Given the description of an element on the screen output the (x, y) to click on. 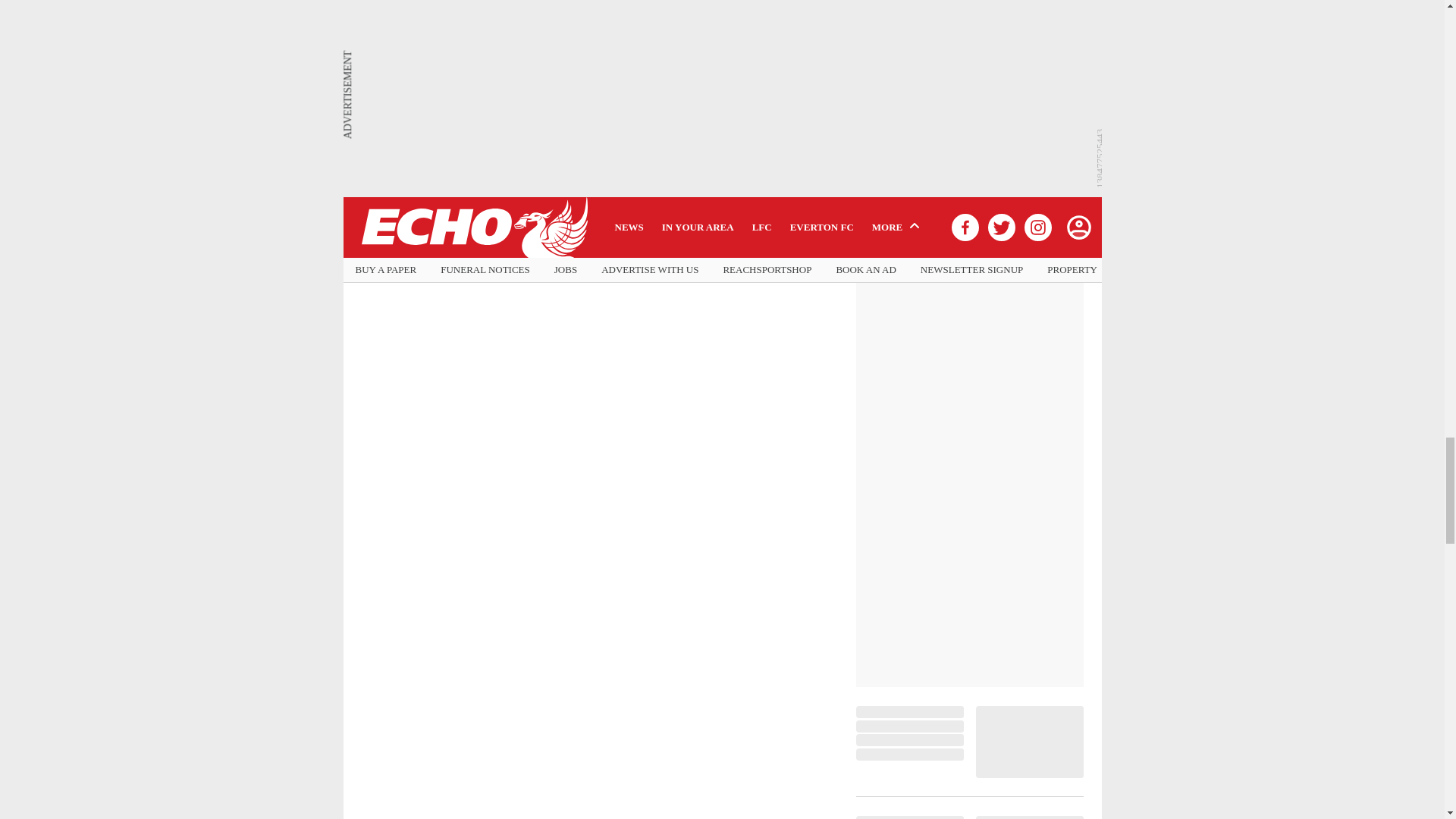
3rd party ad content (969, 459)
